Given the description of an element on the screen output the (x, y) to click on. 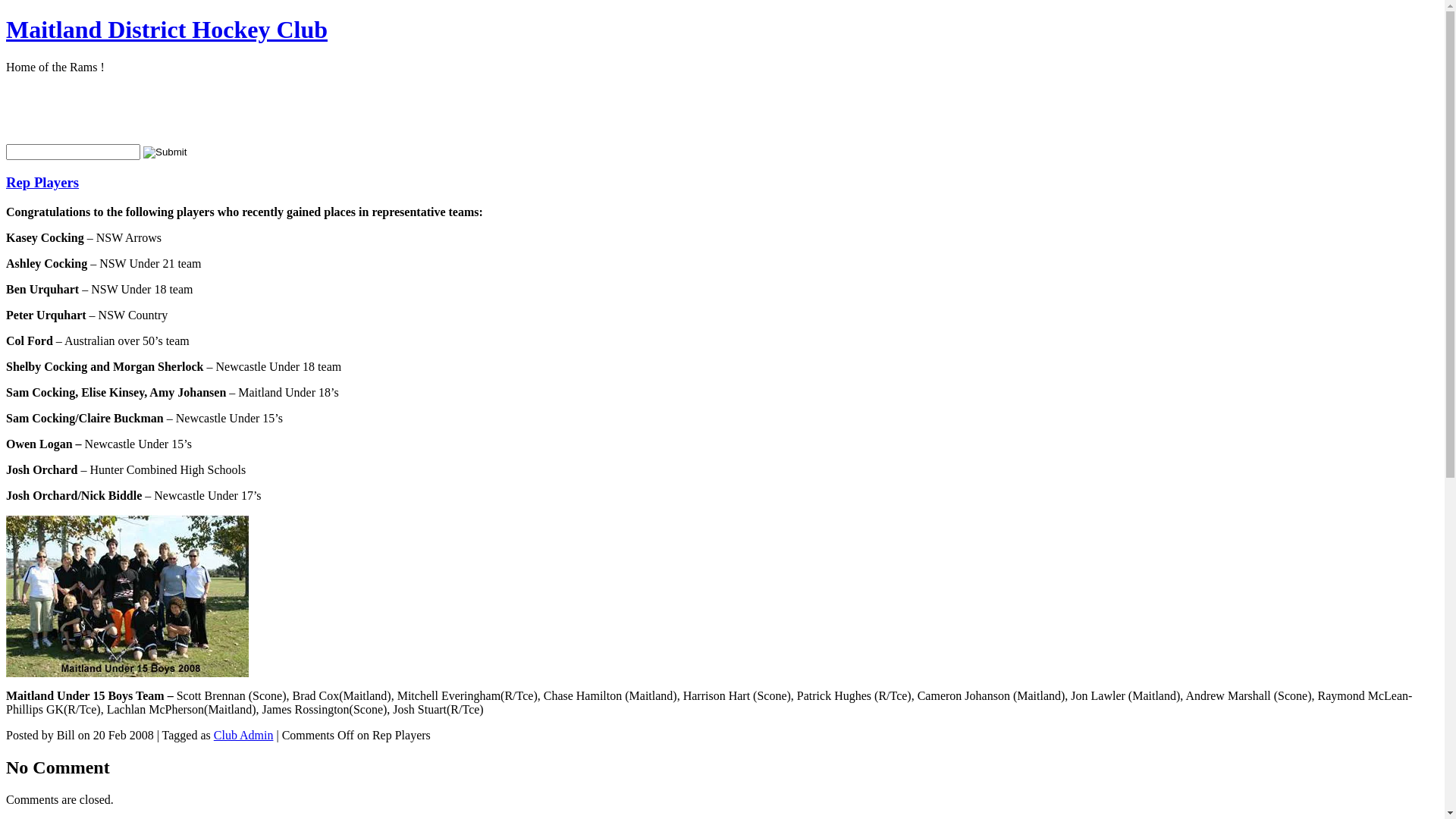
Club Admin Element type: text (243, 734)
under-15-boys-2008-copy.jpg Element type: hover (127, 672)
Rep Players Element type: text (42, 182)
Maitland District Hockey Club Element type: text (166, 29)
